Given the description of an element on the screen output the (x, y) to click on. 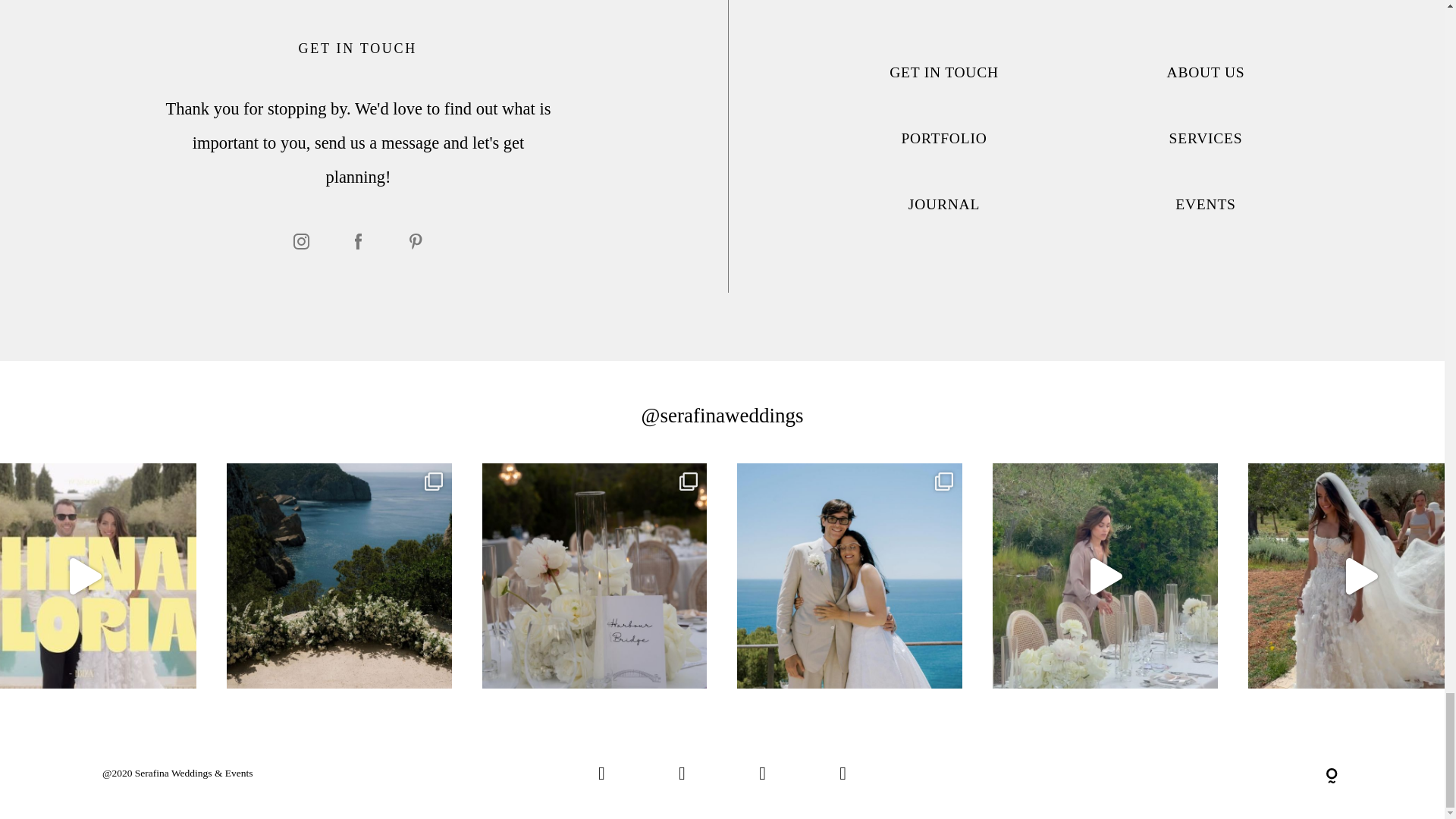
EVENTS (1204, 204)
SERVICES (1206, 138)
GET IN TOUCH (943, 72)
Sorry, your browser does not support inline SVG. (1331, 776)
JOURNAL (943, 204)
ABOUT US (1205, 72)
PORTFOLIO (944, 138)
